Given the description of an element on the screen output the (x, y) to click on. 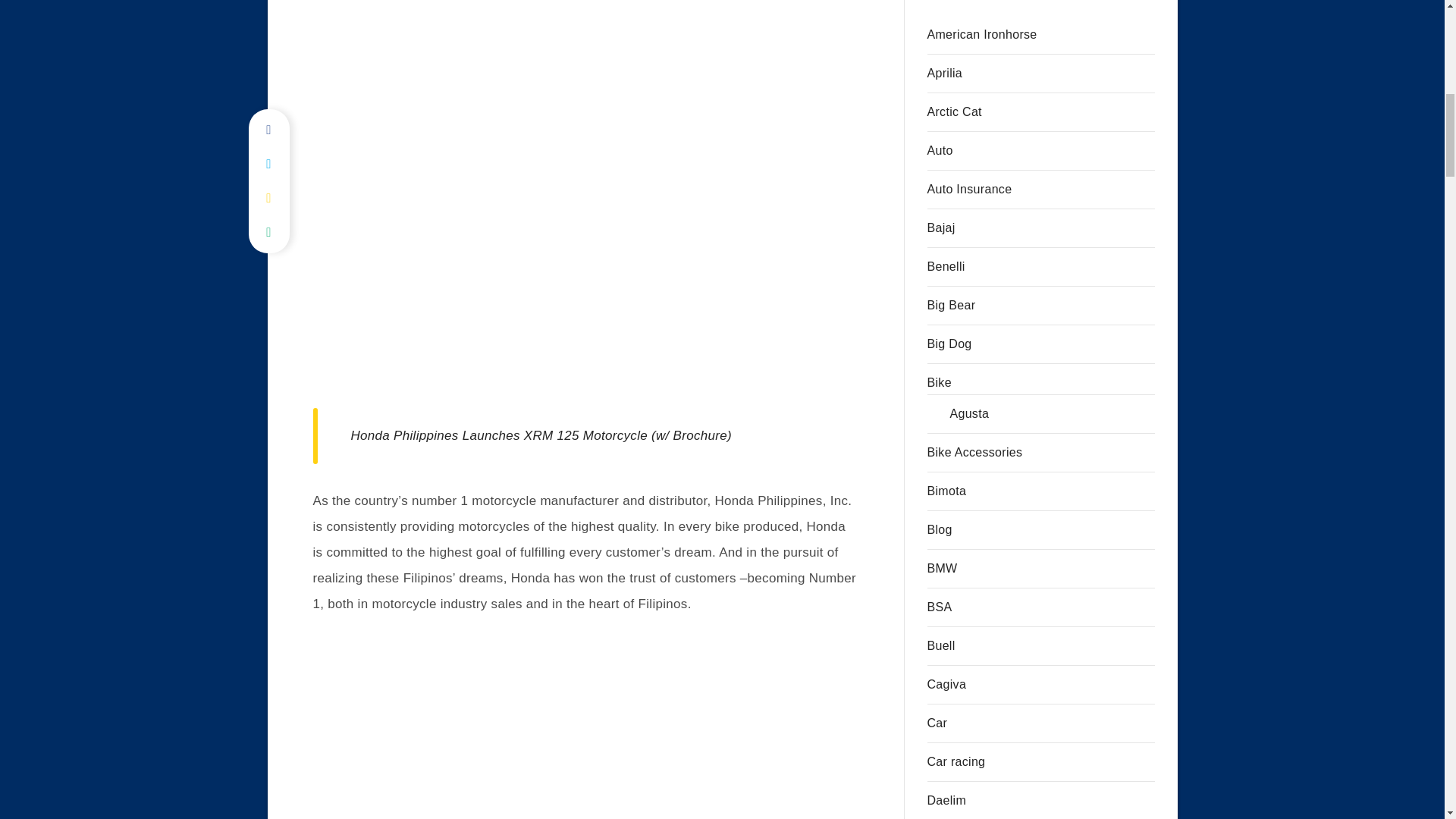
Advertisement (585, 727)
Advertisement (584, 45)
